Given the description of an element on the screen output the (x, y) to click on. 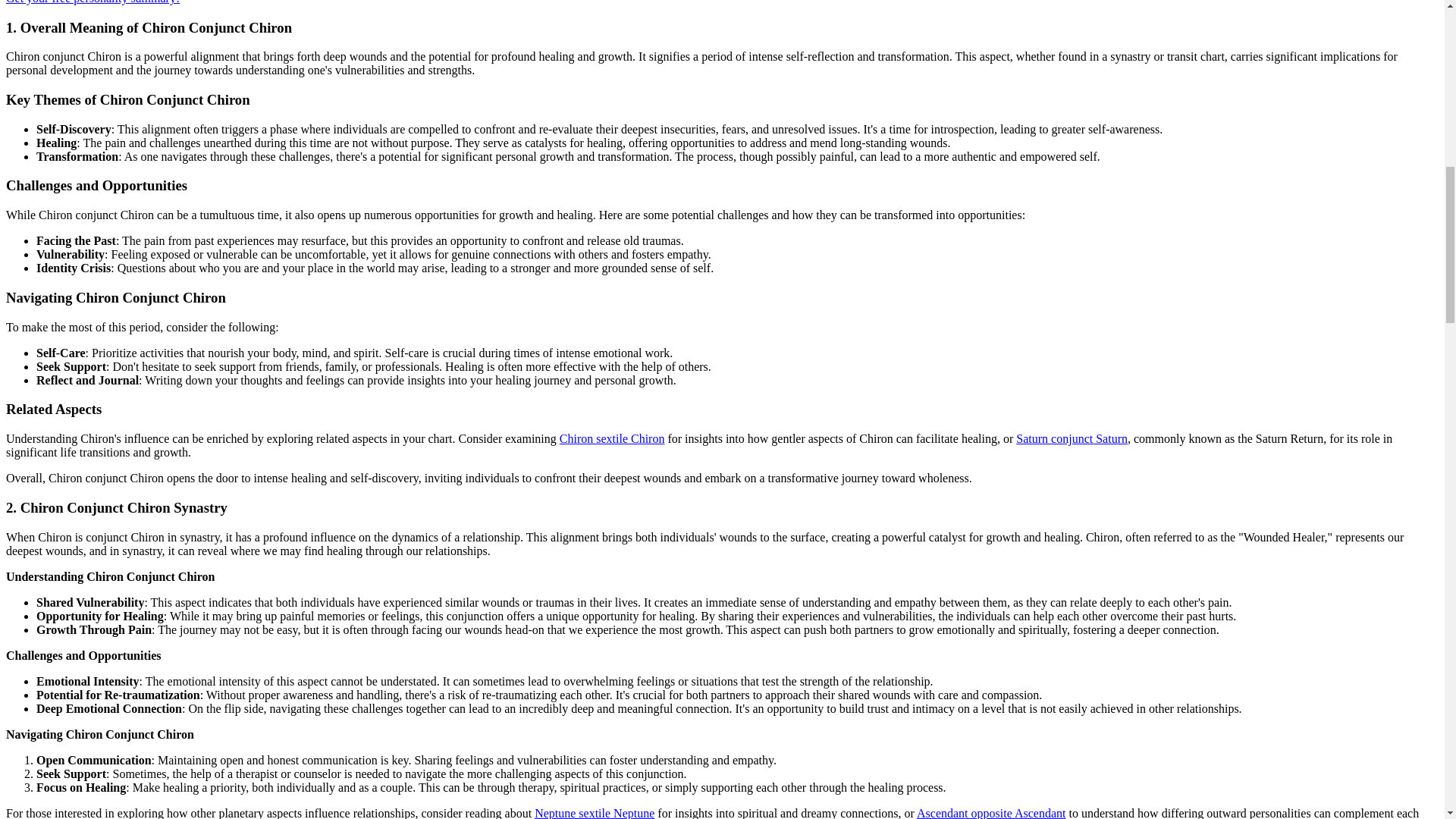
Get your free personality summary! (92, 2)
Chiron sextile Chiron (612, 438)
Ascendant opposite Ascendant (991, 812)
Neptune sextile Neptune (593, 812)
Saturn conjunct Saturn (1071, 438)
